Given the description of an element on the screen output the (x, y) to click on. 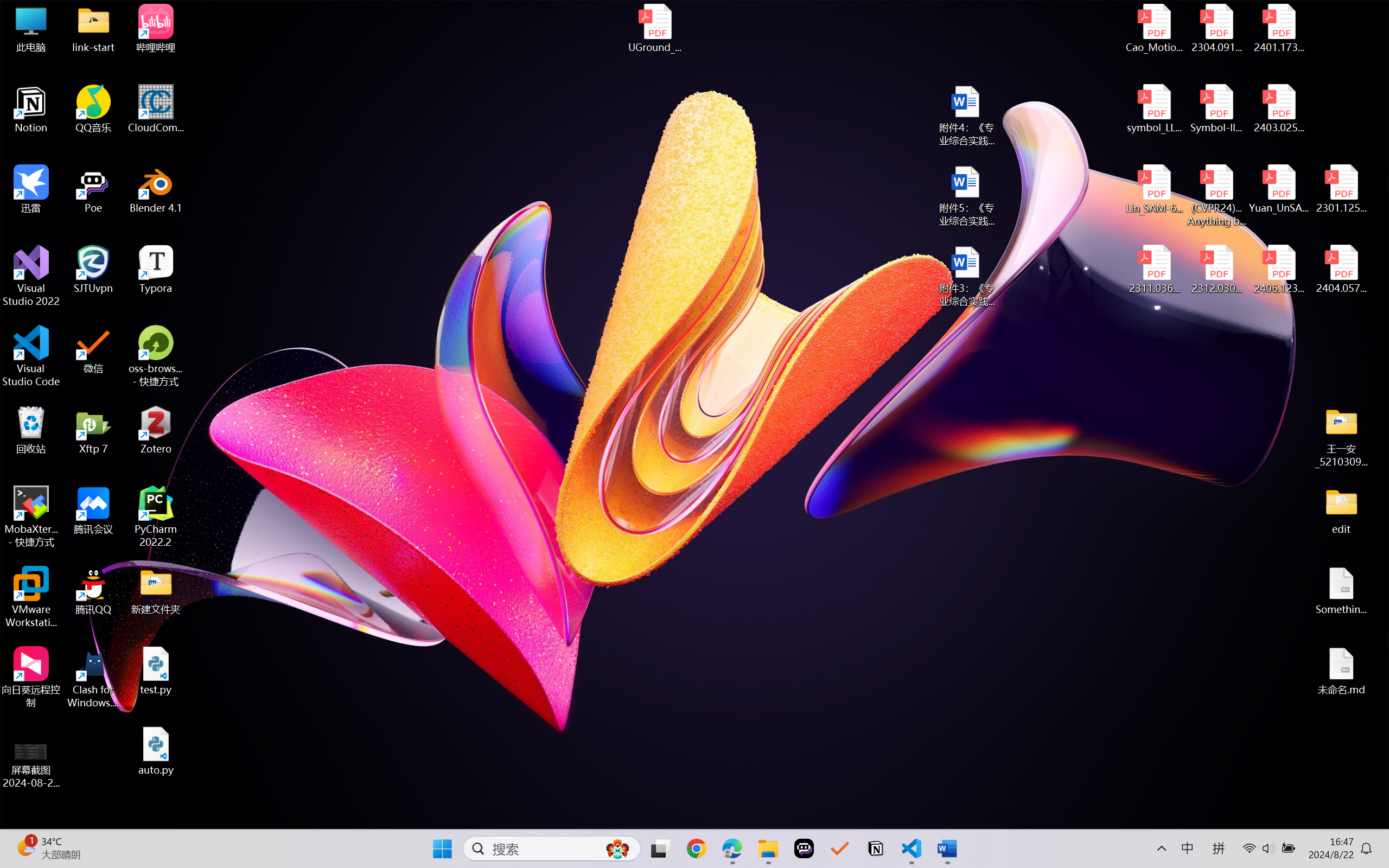
test.py (156, 670)
2406.12373v2.pdf (1278, 269)
Visual Studio 2022 (31, 276)
Blender 4.1 (156, 189)
edit (1340, 510)
